Given the description of an element on the screen output the (x, y) to click on. 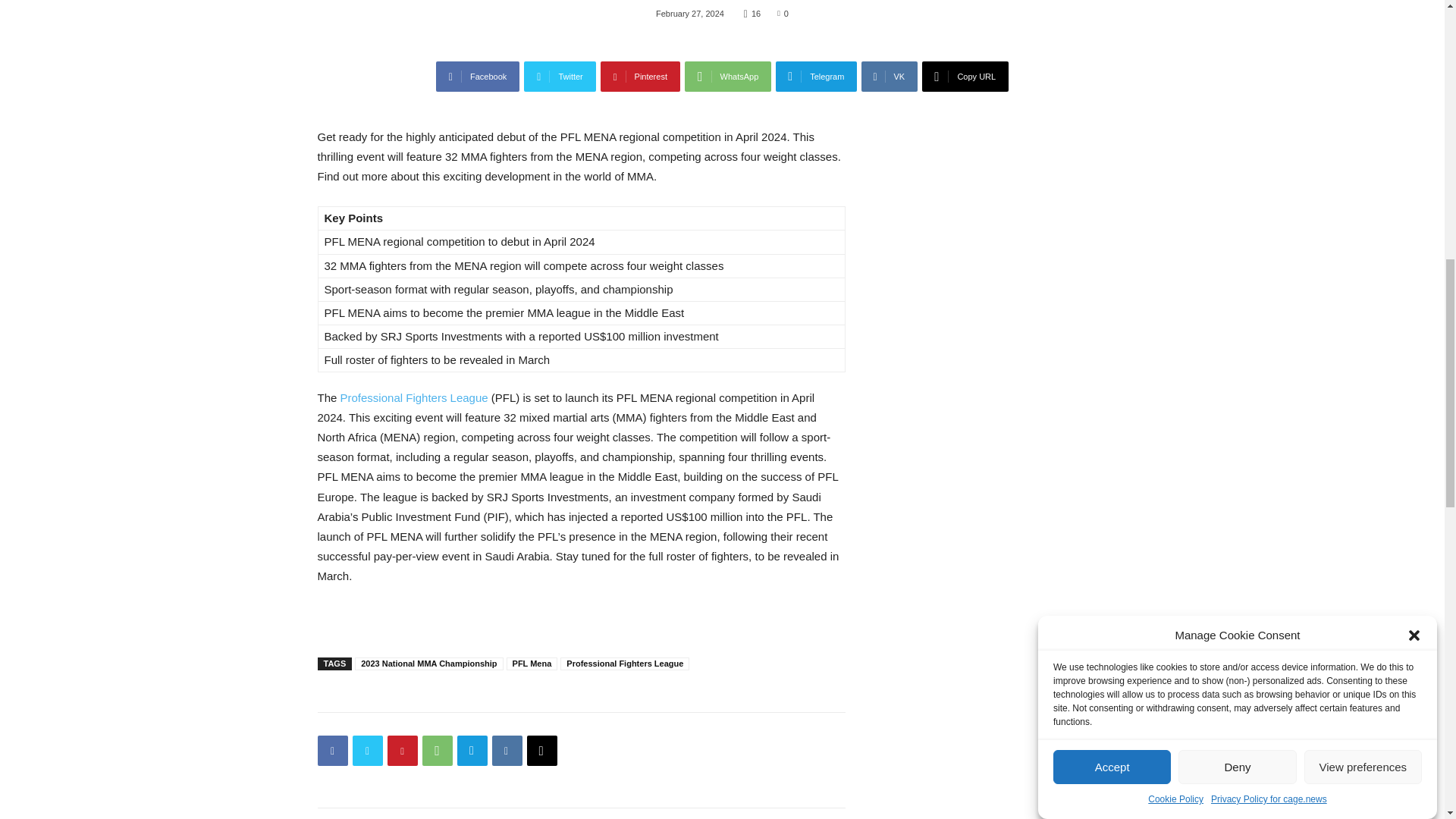
Deny (1236, 147)
Cookie Policy (1176, 75)
View preferences (1363, 121)
Privacy Policy for cage.news (1268, 54)
Accept (1111, 175)
